Given the description of an element on the screen output the (x, y) to click on. 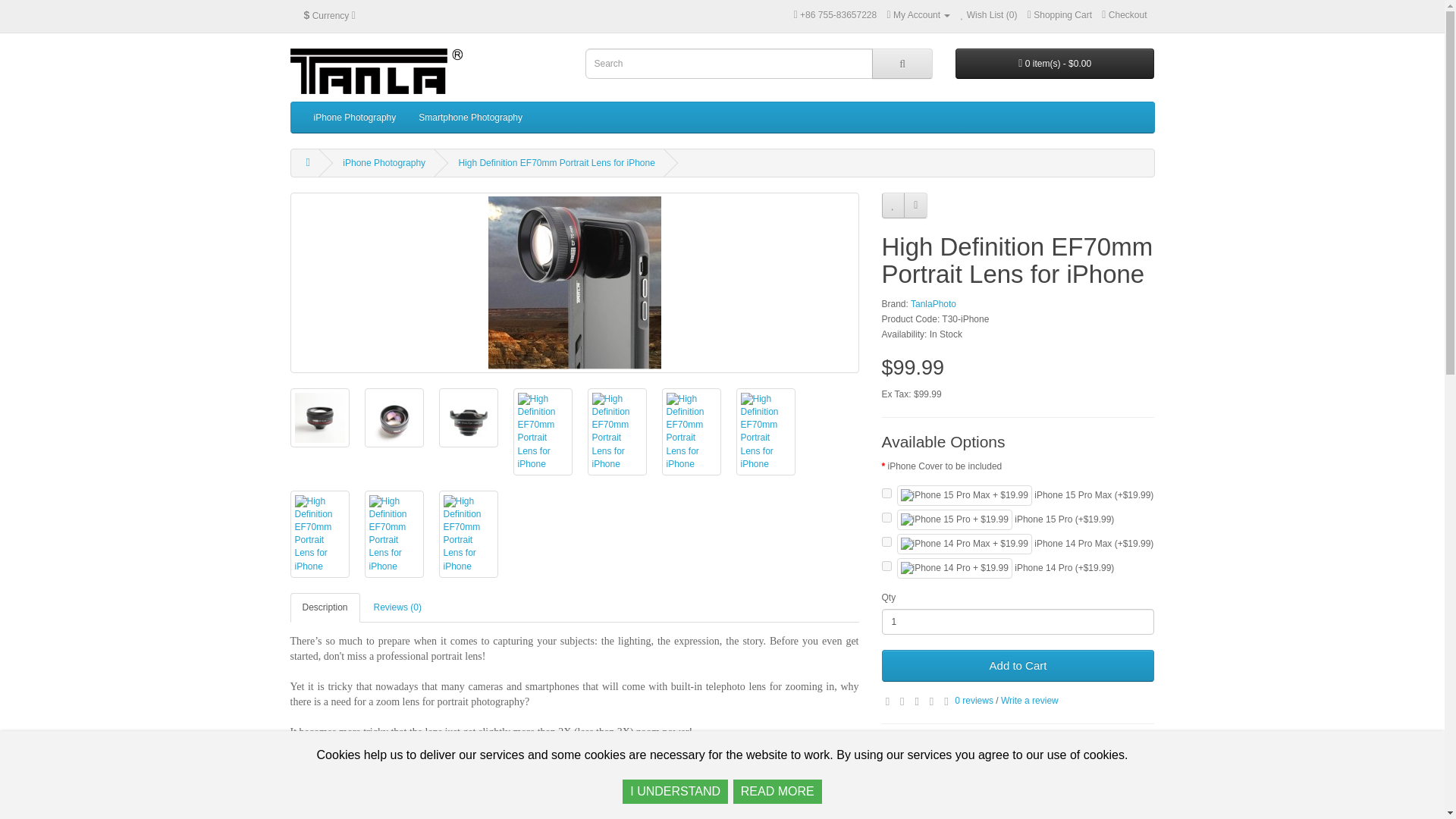
Shopping Cart (1059, 14)
High Definition EF70mm Portrait Lens for iPhone (393, 417)
iPhone Photography (383, 163)
Description (324, 607)
Checkout (1124, 14)
Checkout (1124, 14)
Shopping Cart (1059, 14)
High Definition EF70mm Portrait Lens for iPhone (555, 163)
1210 (885, 565)
High Definition EF70mm Portrait Lens for iPhone (574, 282)
